Given the description of an element on the screen output the (x, y) to click on. 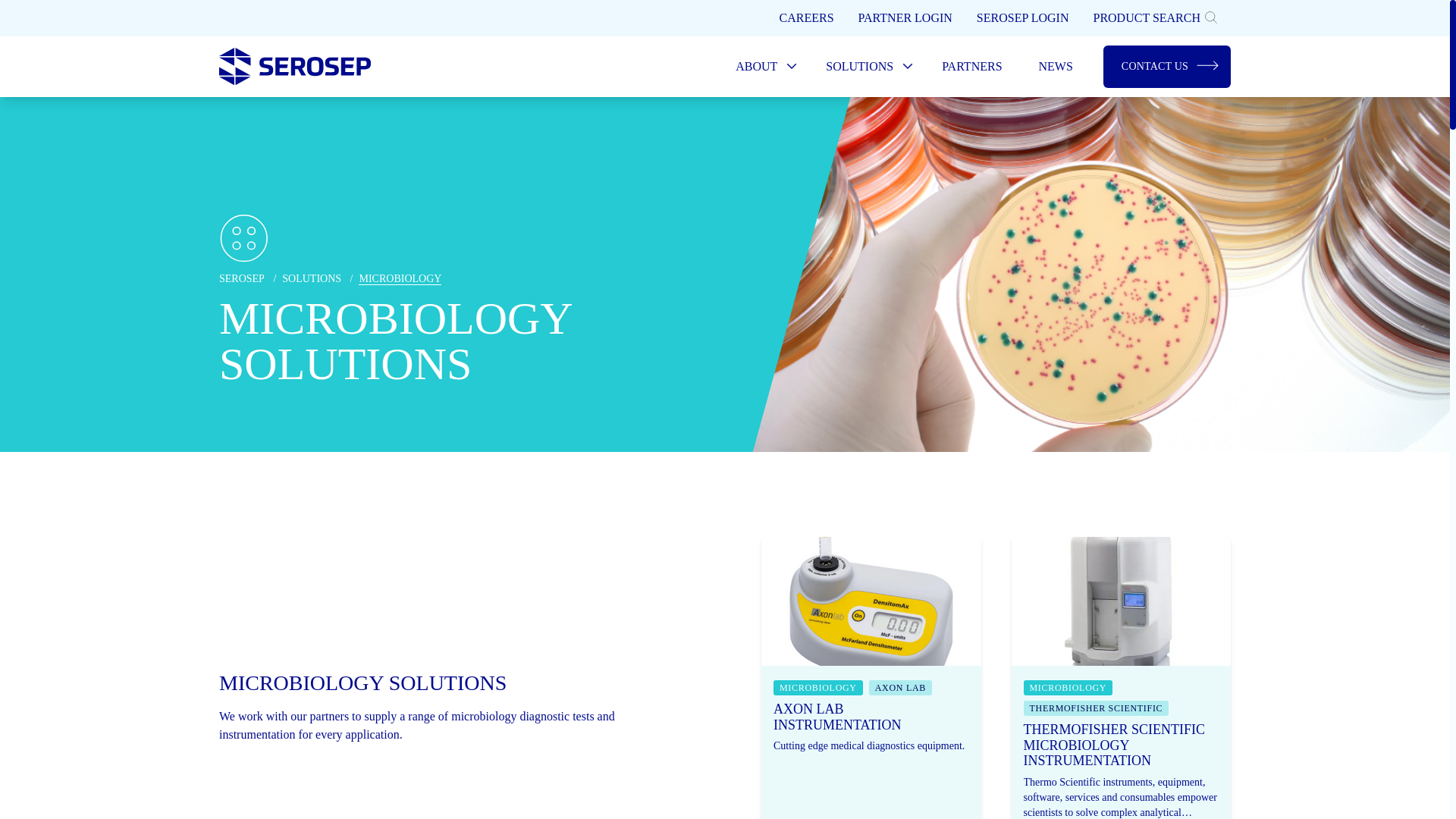
PRODUCT SEARCH (1155, 18)
PARTNER LOGIN (904, 18)
CONTACT US (1166, 66)
CAREERS (806, 18)
PARTNERS (971, 66)
NEWS (1055, 66)
SOLUTIONS (865, 66)
ABOUT (762, 66)
SEROSEP LOGIN (1022, 18)
